Given the description of an element on the screen output the (x, y) to click on. 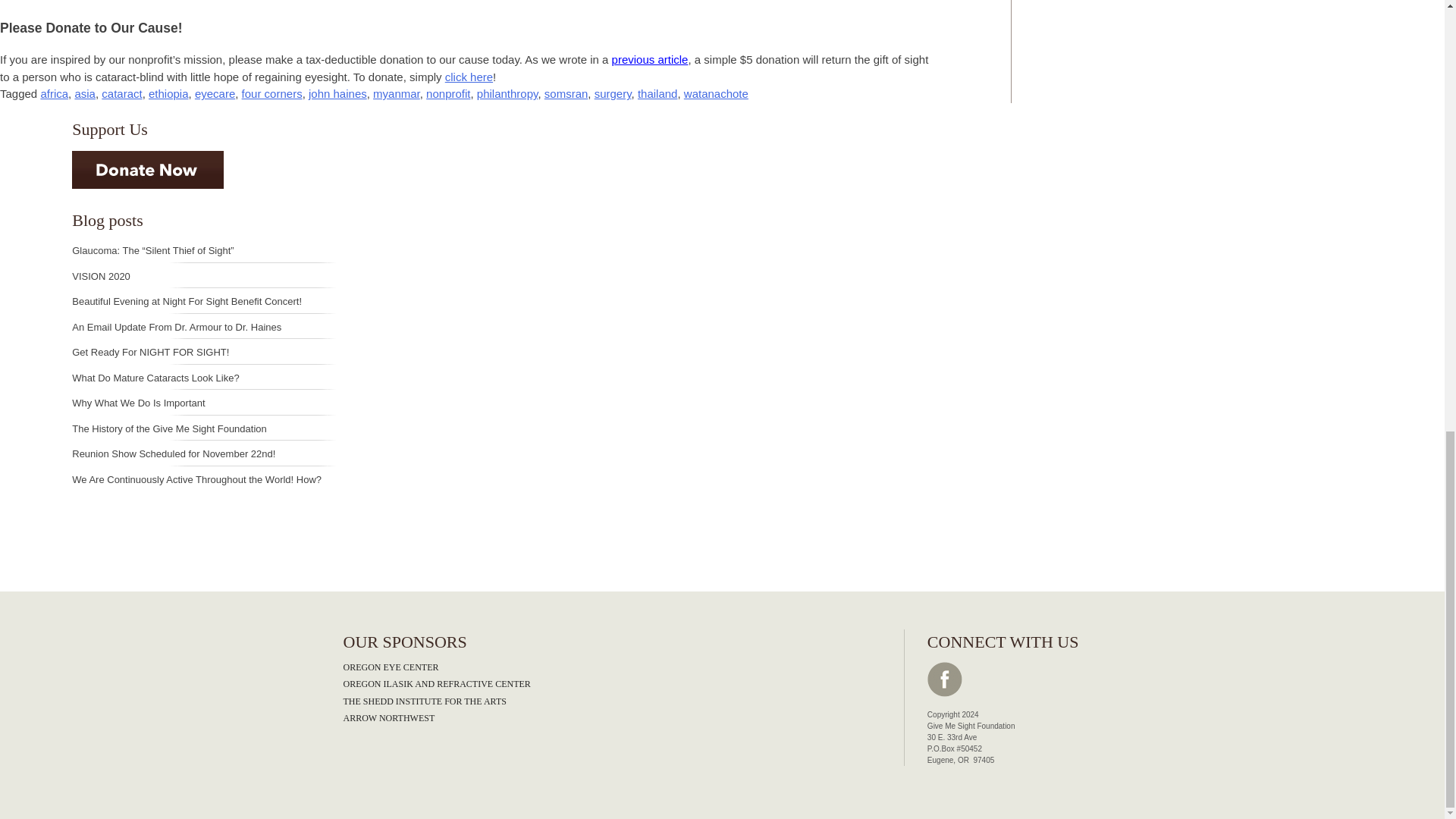
asia (85, 92)
watanachote (716, 92)
An Email Update From Dr. Armour to Dr. Haines (176, 326)
eyecare (214, 92)
africa (54, 92)
Get Ready For NIGHT FOR SIGHT! (149, 351)
four corners (271, 92)
myanmar (396, 92)
The History of the Give Me Sight Foundation (168, 428)
Why What We Do Is Important (138, 402)
